Given the description of an element on the screen output the (x, y) to click on. 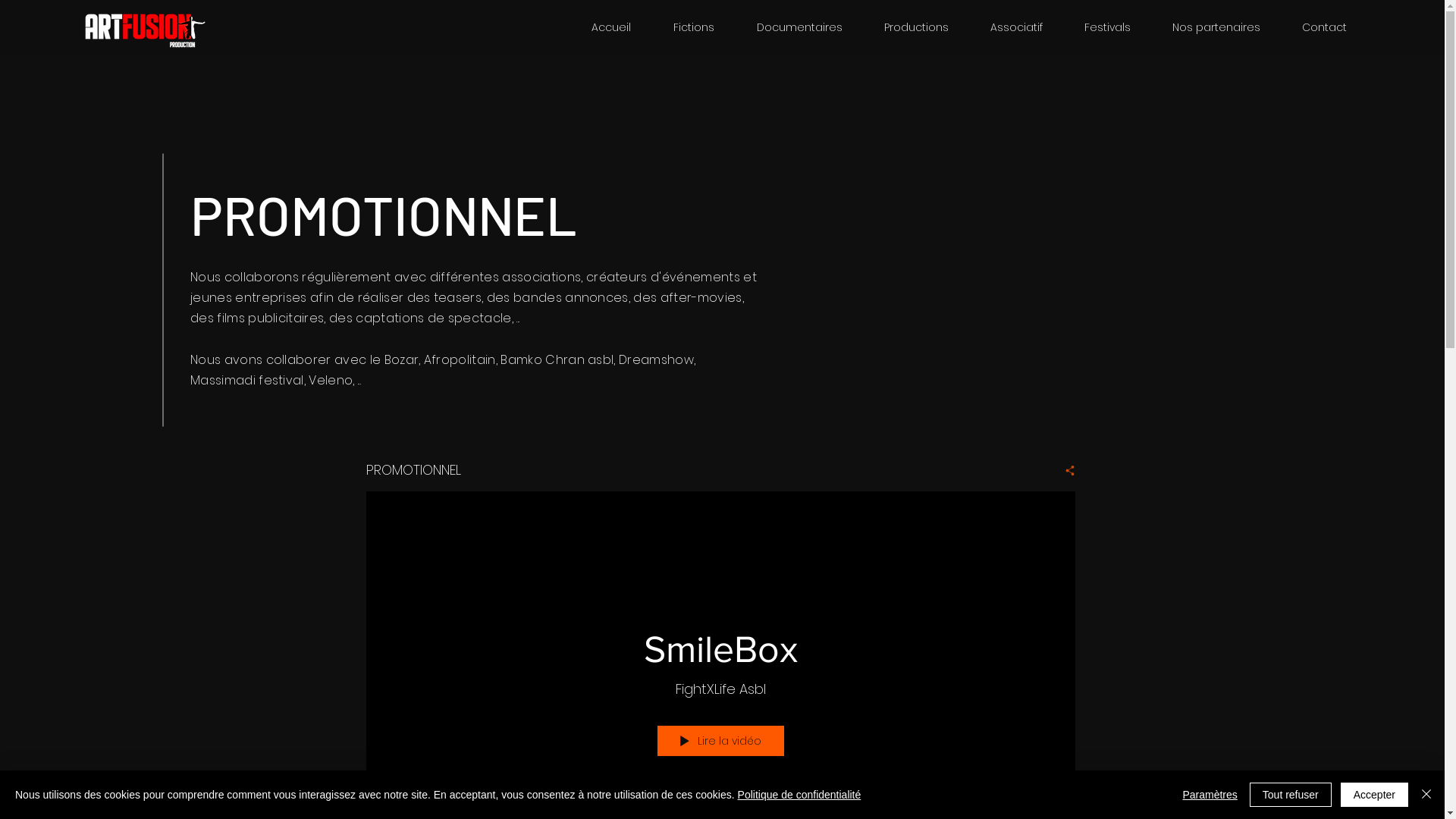
Tout refuser Element type: text (1290, 794)
Accueil Element type: text (611, 26)
Nos partenaires Element type: text (1215, 26)
Contact Element type: text (1323, 26)
Accepter Element type: text (1374, 794)
